Given the description of an element on the screen output the (x, y) to click on. 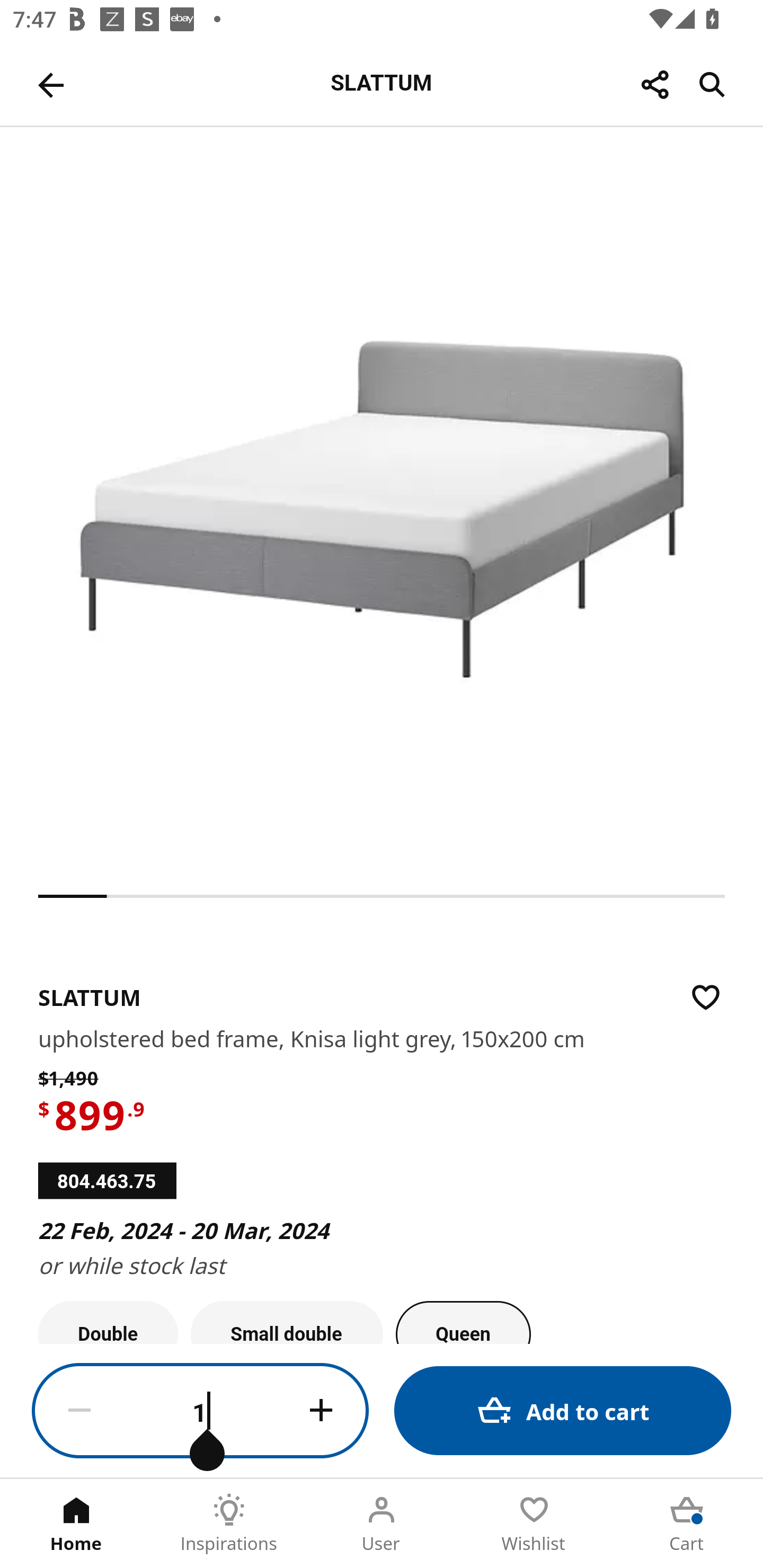
Double (107, 1322)
Small double (286, 1322)
Queen (463, 1322)
Add to cart (562, 1410)
1 (200, 1411)
Home
Tab 1 of 5 (76, 1522)
Inspirations
Tab 2 of 5 (228, 1522)
User
Tab 3 of 5 (381, 1522)
Wishlist
Tab 4 of 5 (533, 1522)
Cart
Tab 5 of 5 (686, 1522)
